Given the description of an element on the screen output the (x, y) to click on. 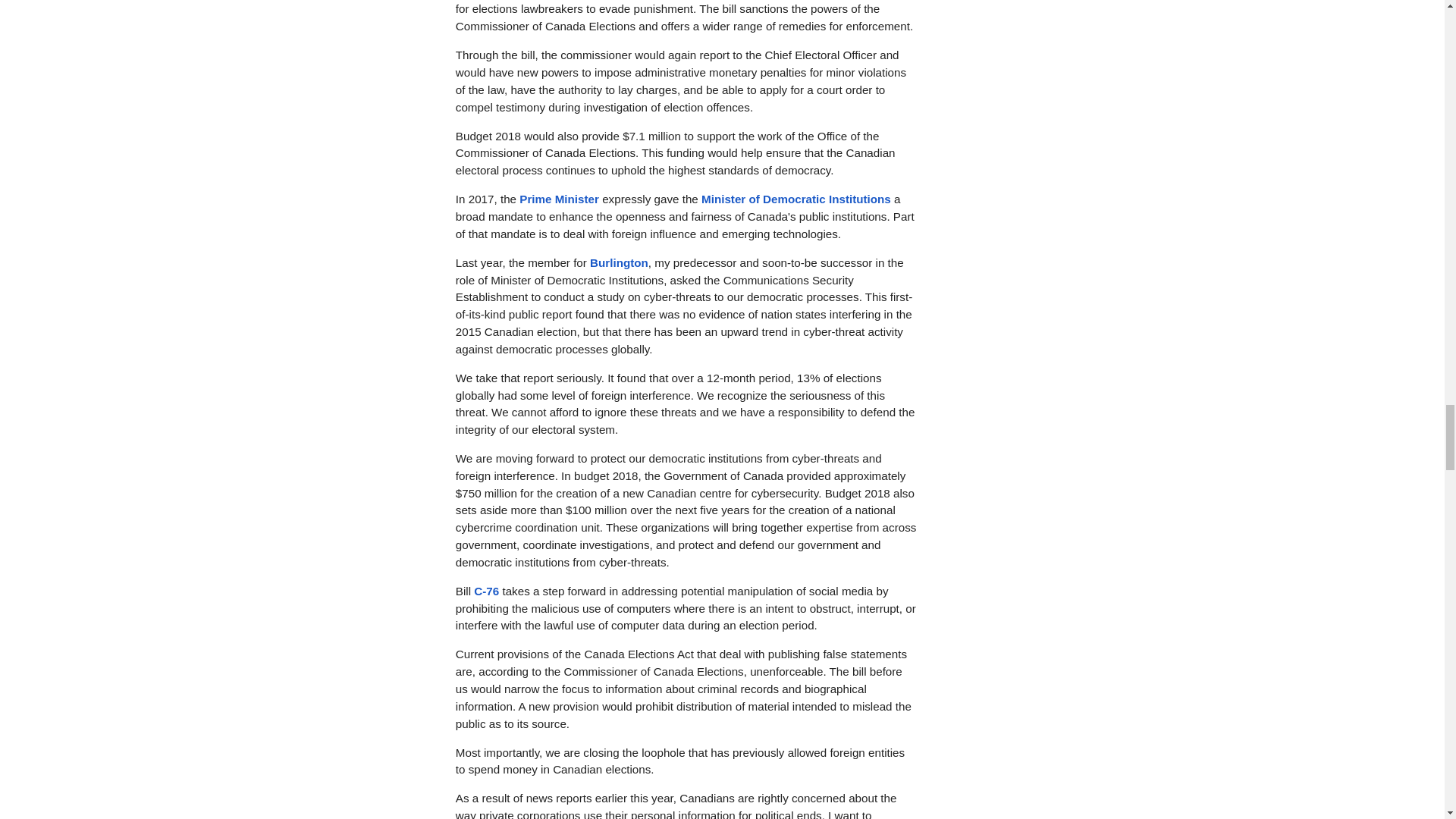
Justin Trudeau (558, 198)
Karina Gould (618, 262)
Karina Gould (796, 198)
